Given the description of an element on the screen output the (x, y) to click on. 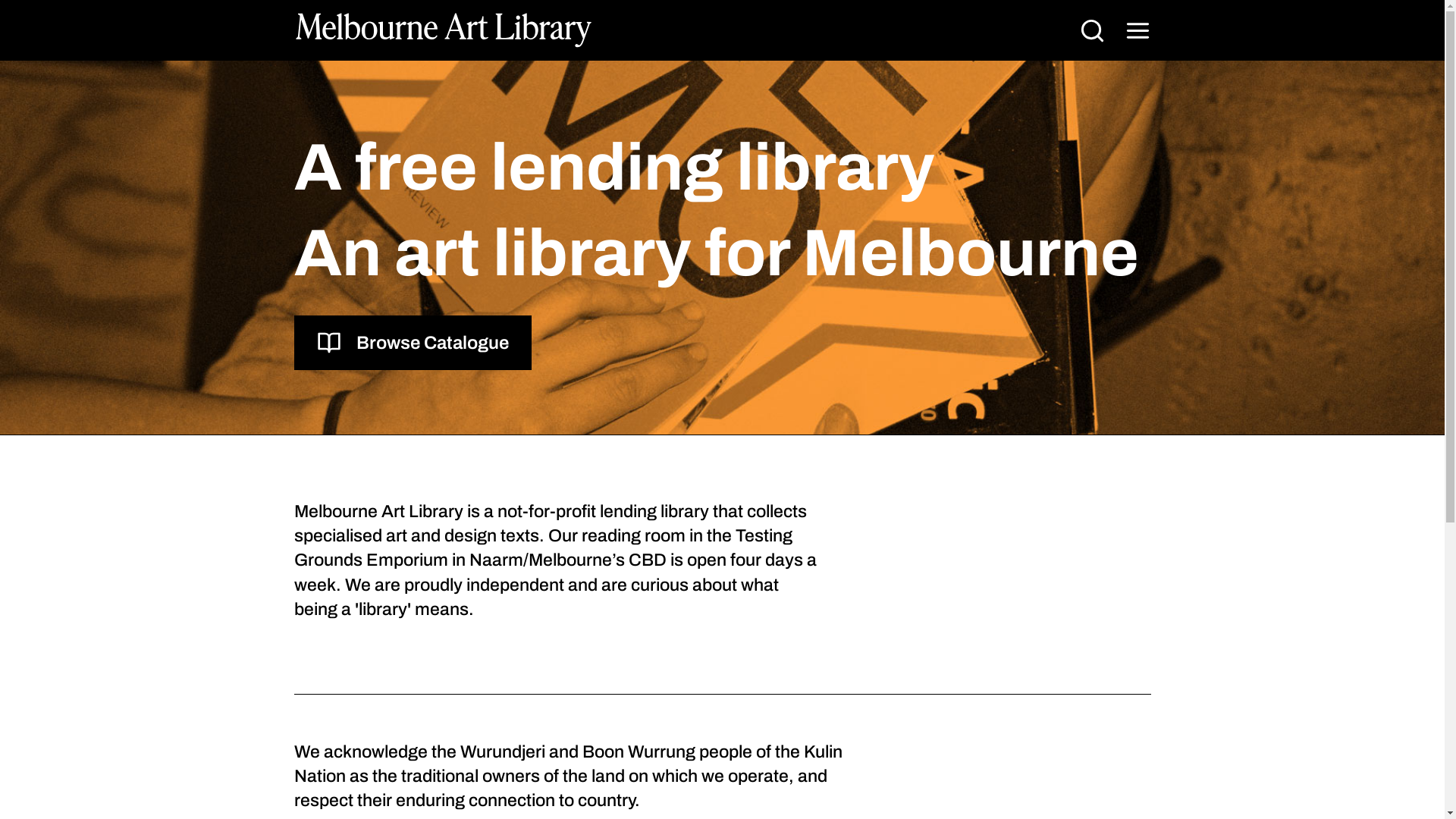
Browse Catalogue Element type: text (412, 342)
